Given the description of an element on the screen output the (x, y) to click on. 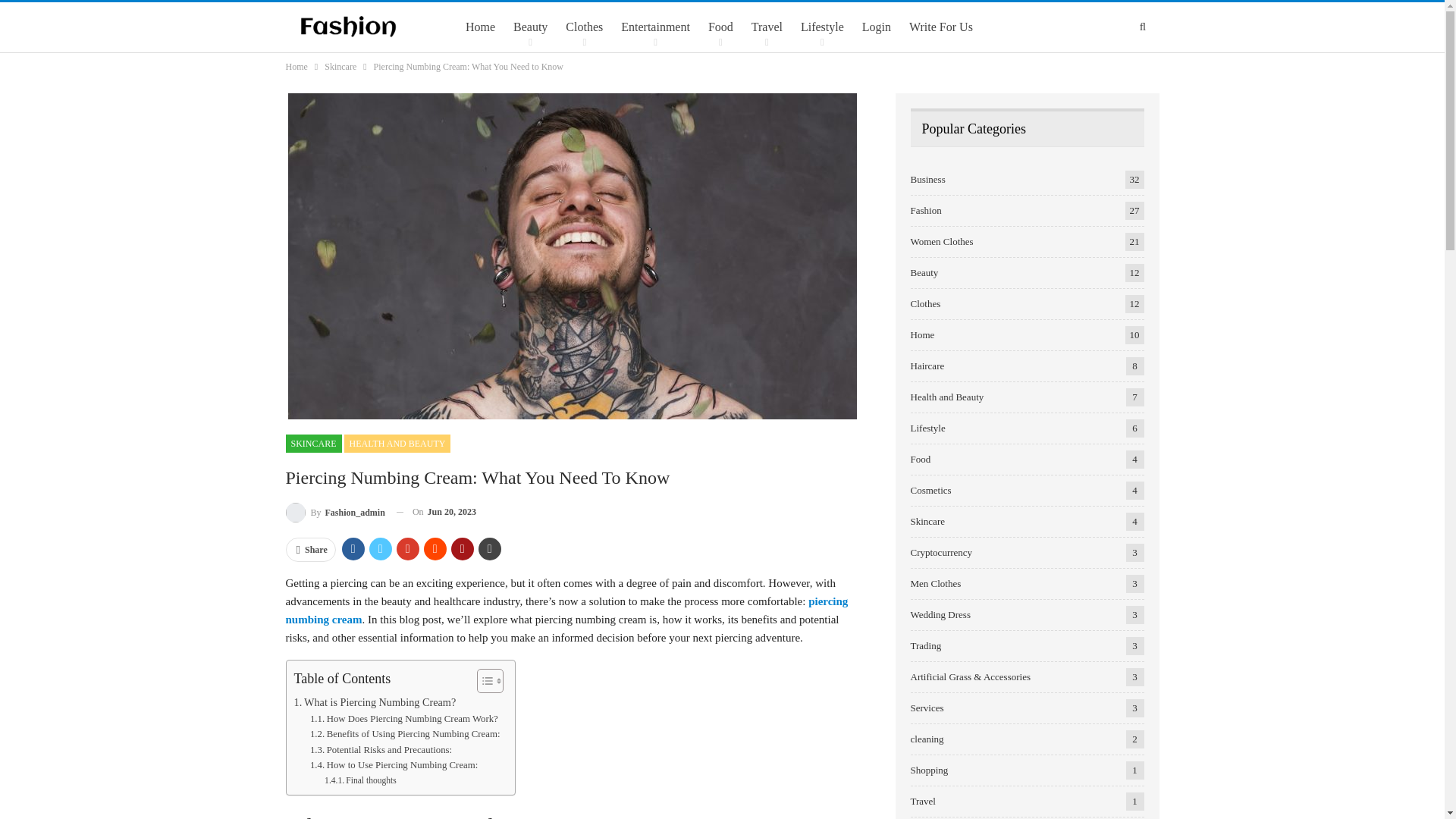
Cloths (584, 27)
Home (480, 27)
Entertainment (655, 27)
Travel (766, 27)
Login (876, 27)
Clothes (584, 27)
Food (720, 27)
Skincare (340, 66)
Home (296, 66)
Write For Us (941, 27)
Entertainment (655, 27)
Home (480, 27)
Lifestyle (821, 27)
Beauty (530, 27)
Beauty (530, 27)
